Given the description of an element on the screen output the (x, y) to click on. 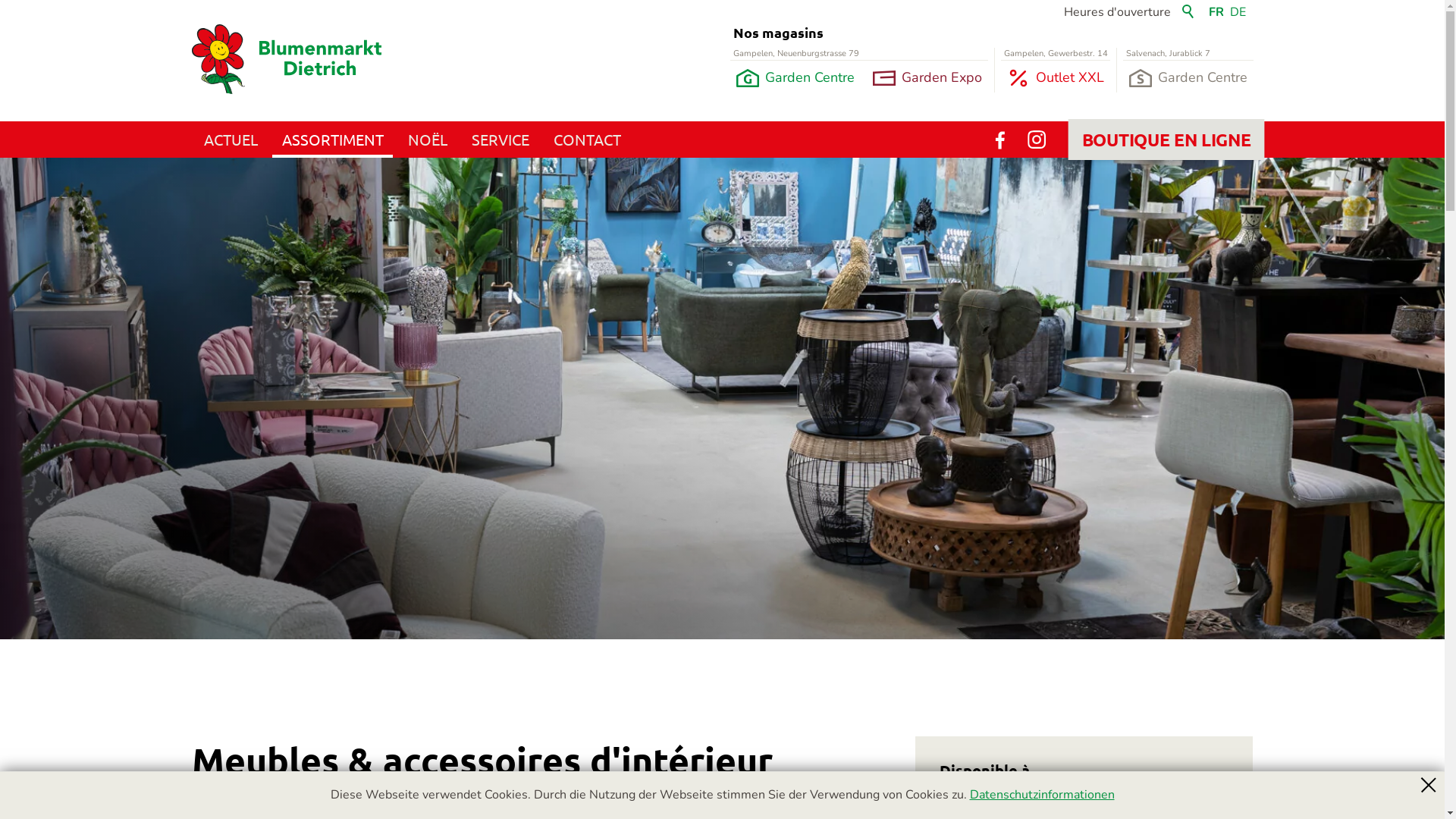
DE Element type: text (1235, 12)
INSTAGRAM Element type: text (1035, 139)
Garden Centre Element type: text (794, 77)
Datenschutzinformationen Element type: text (1041, 794)
FR Element type: text (1217, 12)
ACTUEL Element type: text (230, 139)
Garden Centre Element type: text (1187, 77)
SERVICE Element type: text (500, 139)
Outlet XXL Element type: text (1055, 77)
ASSORTIMENT Element type: text (332, 139)
Vers la page d'accueil Element type: hover (285, 59)
FACEBOOK Element type: text (999, 139)
Garden Expo Element type: text (926, 77)
CONTACT Element type: text (587, 139)
BOUTIQUE EN LIGNE Element type: text (1154, 137)
Heures d'ouverture Element type: text (1116, 11)
